Given the description of an element on the screen output the (x, y) to click on. 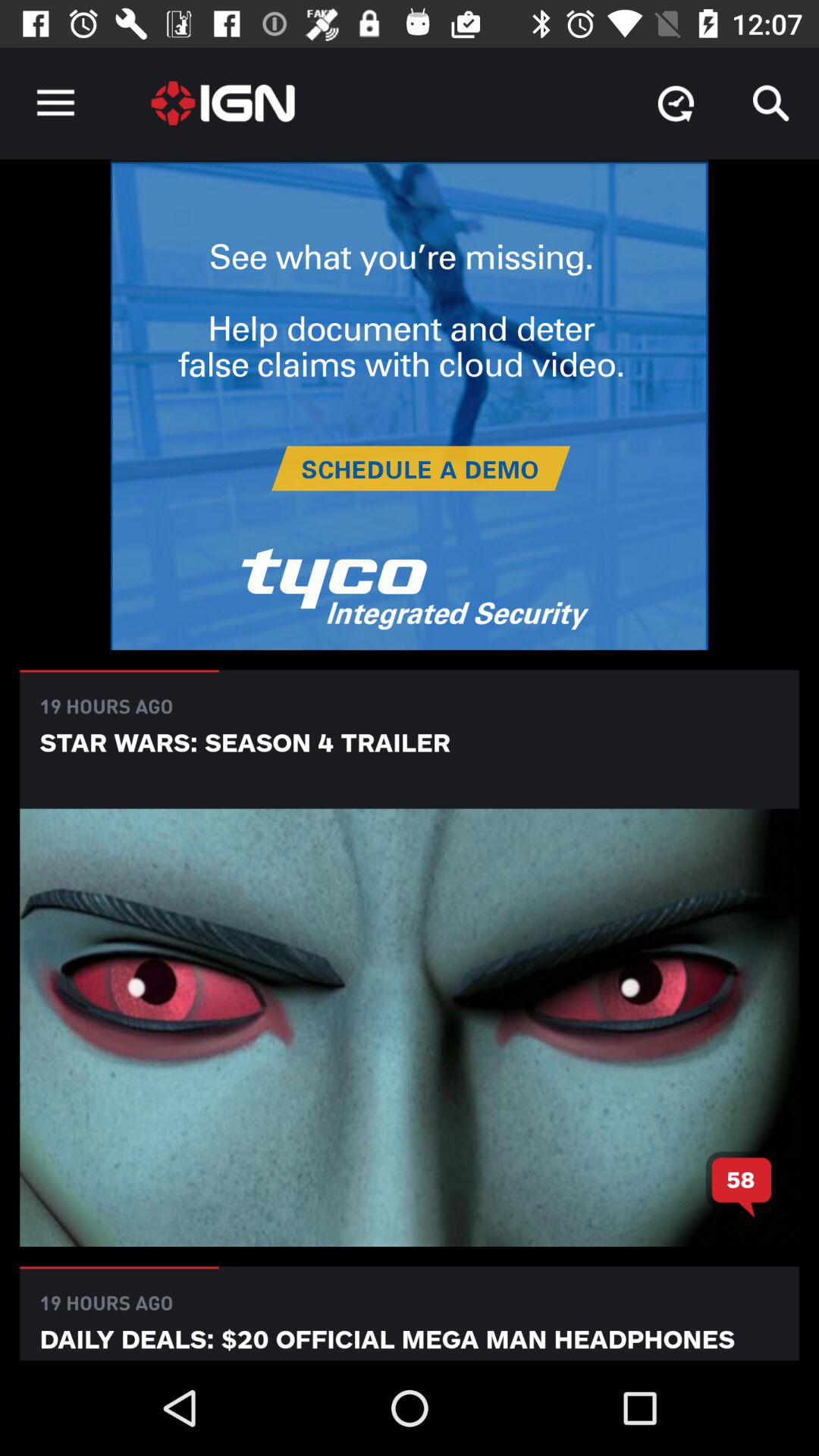
visit sponsor advertisement (409, 406)
